Given the description of an element on the screen output the (x, y) to click on. 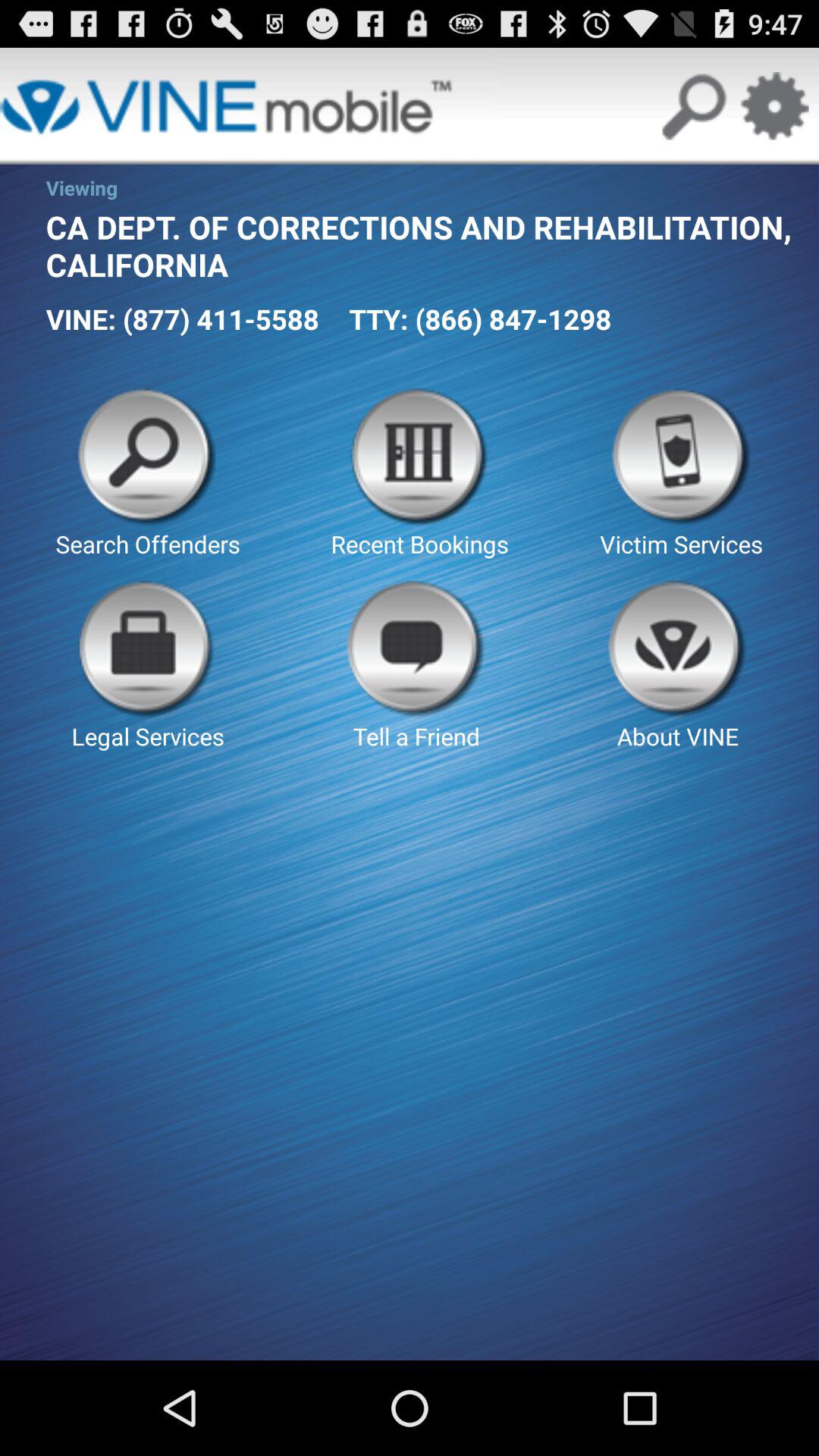
choose the about vine (677, 666)
